Given the description of an element on the screen output the (x, y) to click on. 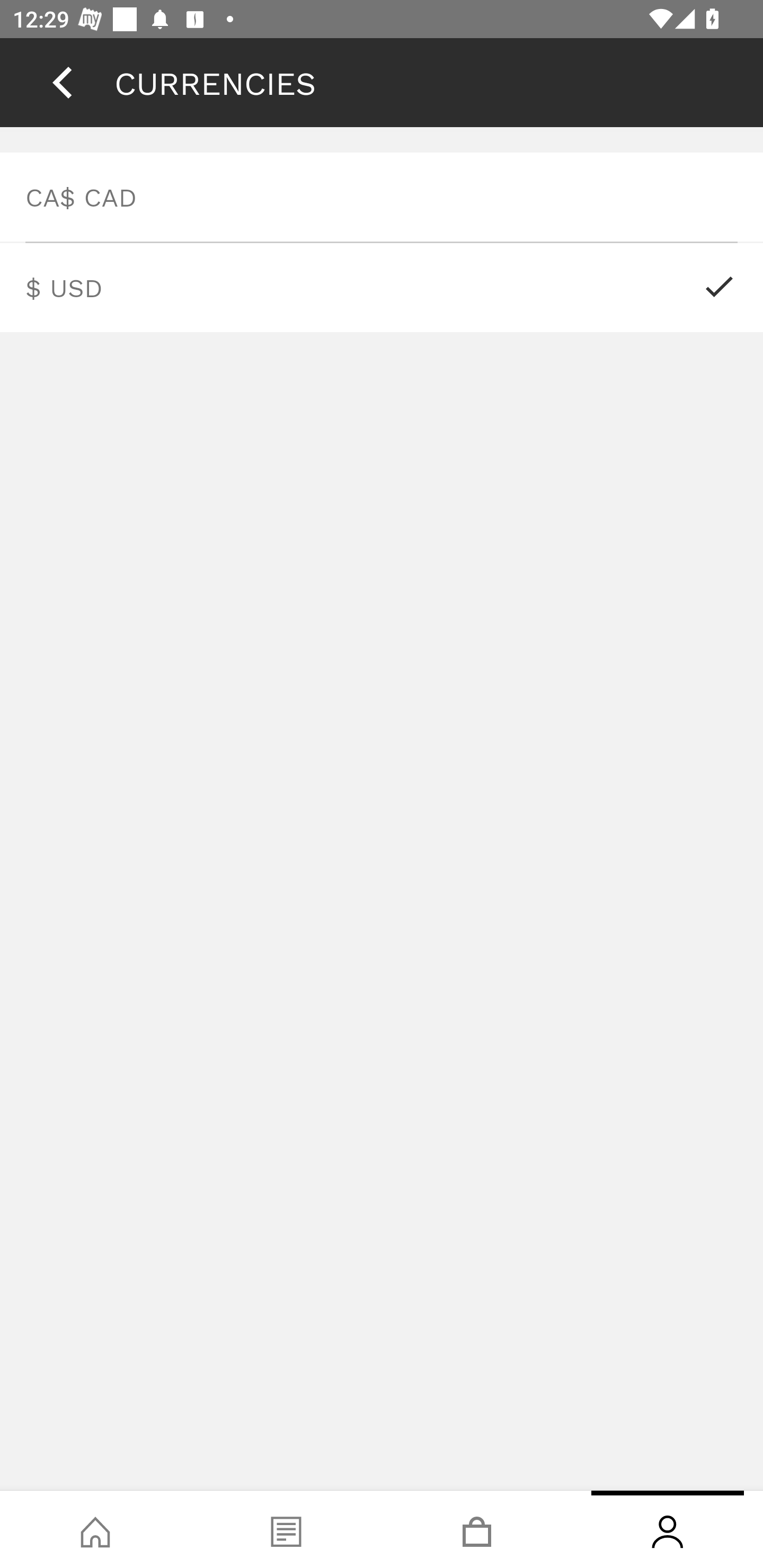
LOCATION, back (61, 82)
CA$ CAD (381, 196)
$ USD (381, 287)
Shop, tab, 1 of 4 (95, 1529)
Blog, tab, 2 of 4 (285, 1529)
Basket, tab, 3 of 4 (476, 1529)
Account, tab, 4 of 4 (667, 1529)
